Given the description of an element on the screen output the (x, y) to click on. 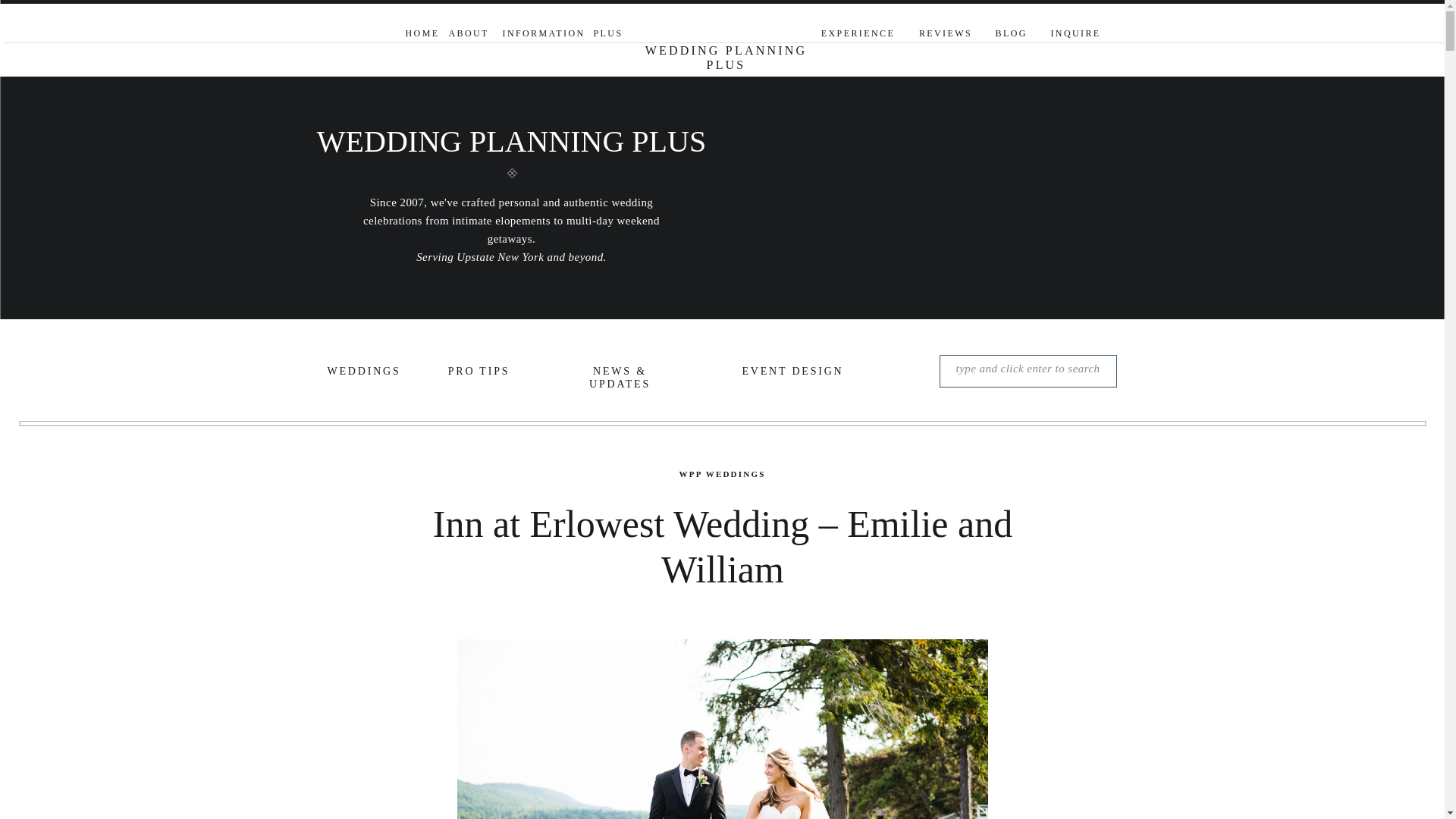
INQUIRE (1074, 34)
ABOUT (467, 34)
REVIEWS (945, 34)
HOME (420, 34)
PRO TIPS (478, 373)
EXPERIENCE (858, 34)
BLOG (1010, 34)
WEDDINGS (361, 373)
EVENT DESIGN (792, 373)
WPP WEDDINGS (722, 473)
